Given the description of an element on the screen output the (x, y) to click on. 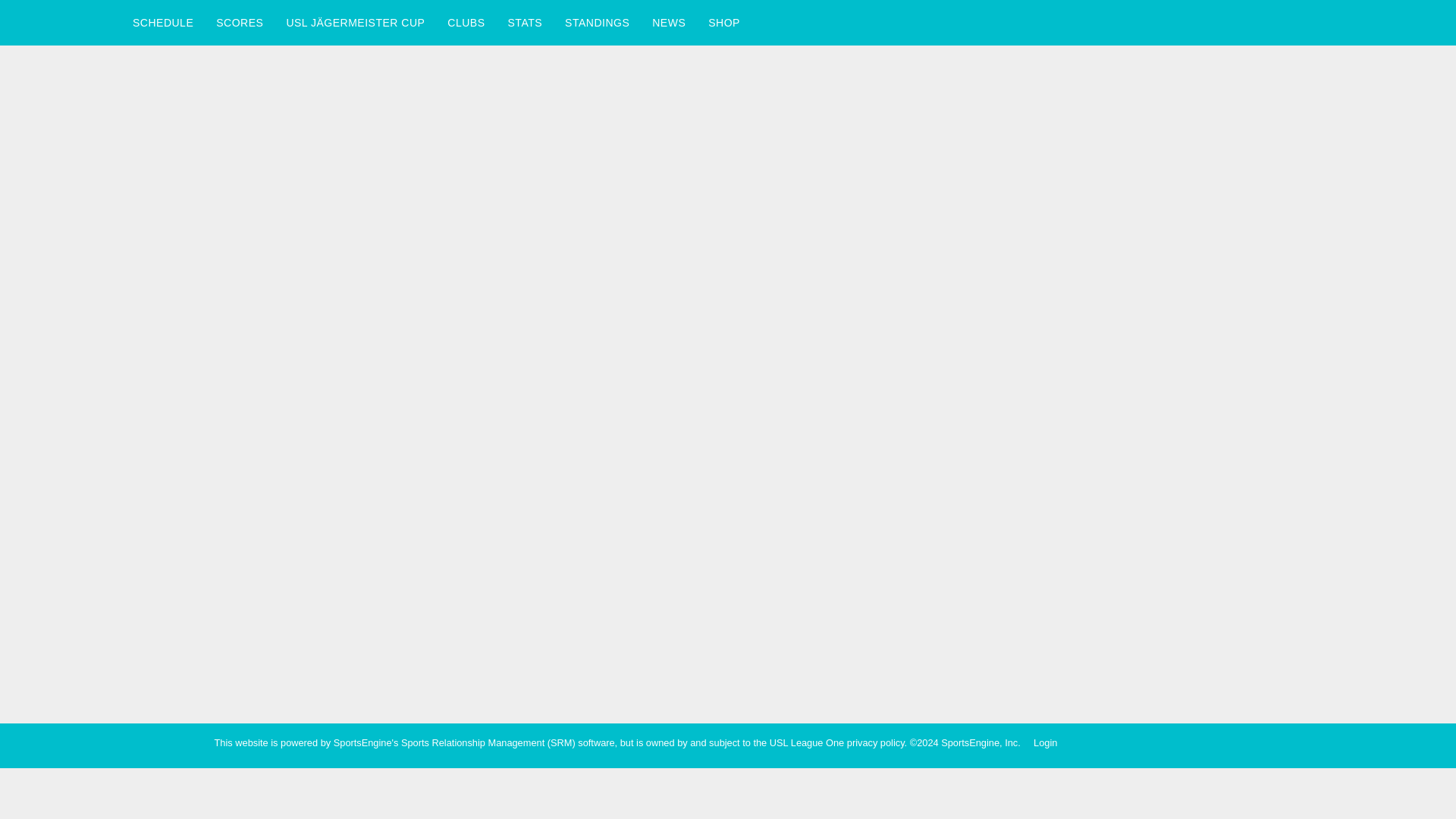
SHOP (724, 22)
SCHEDULE (162, 22)
click to go to 'News' (668, 22)
click to go to 'Prinx Performance Standings' (596, 22)
STANDINGS (596, 22)
CLUBS (465, 22)
SCORES (240, 22)
click to go to 'USL Soccer Shop' (724, 22)
NEWS (668, 22)
click to go to 'Schedule' (162, 22)
